Given the description of an element on the screen output the (x, y) to click on. 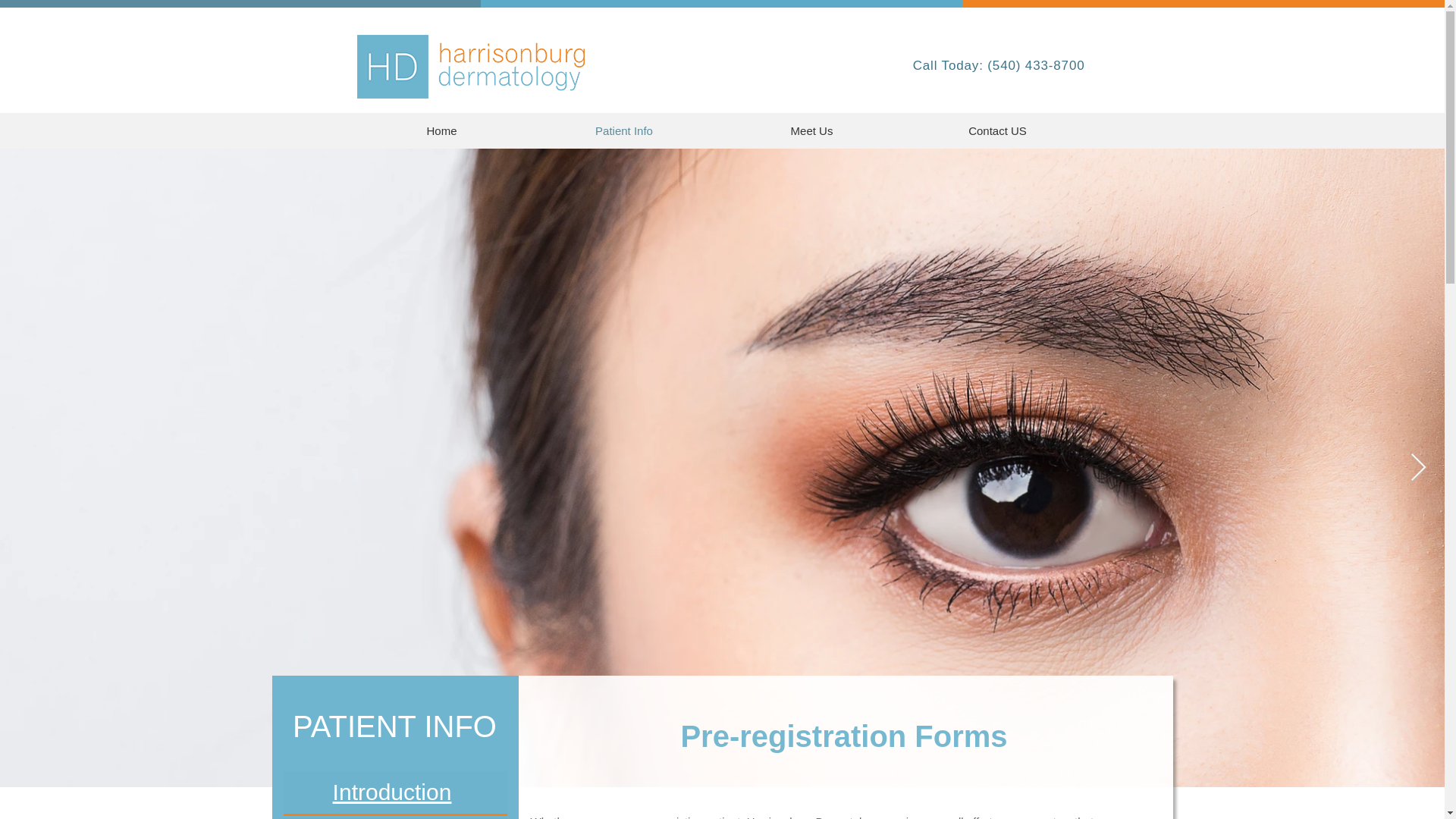
Contact US (997, 130)
Introduction (392, 791)
Home (441, 130)
Meet Us (811, 130)
Patient Info (623, 130)
